Given the description of an element on the screen output the (x, y) to click on. 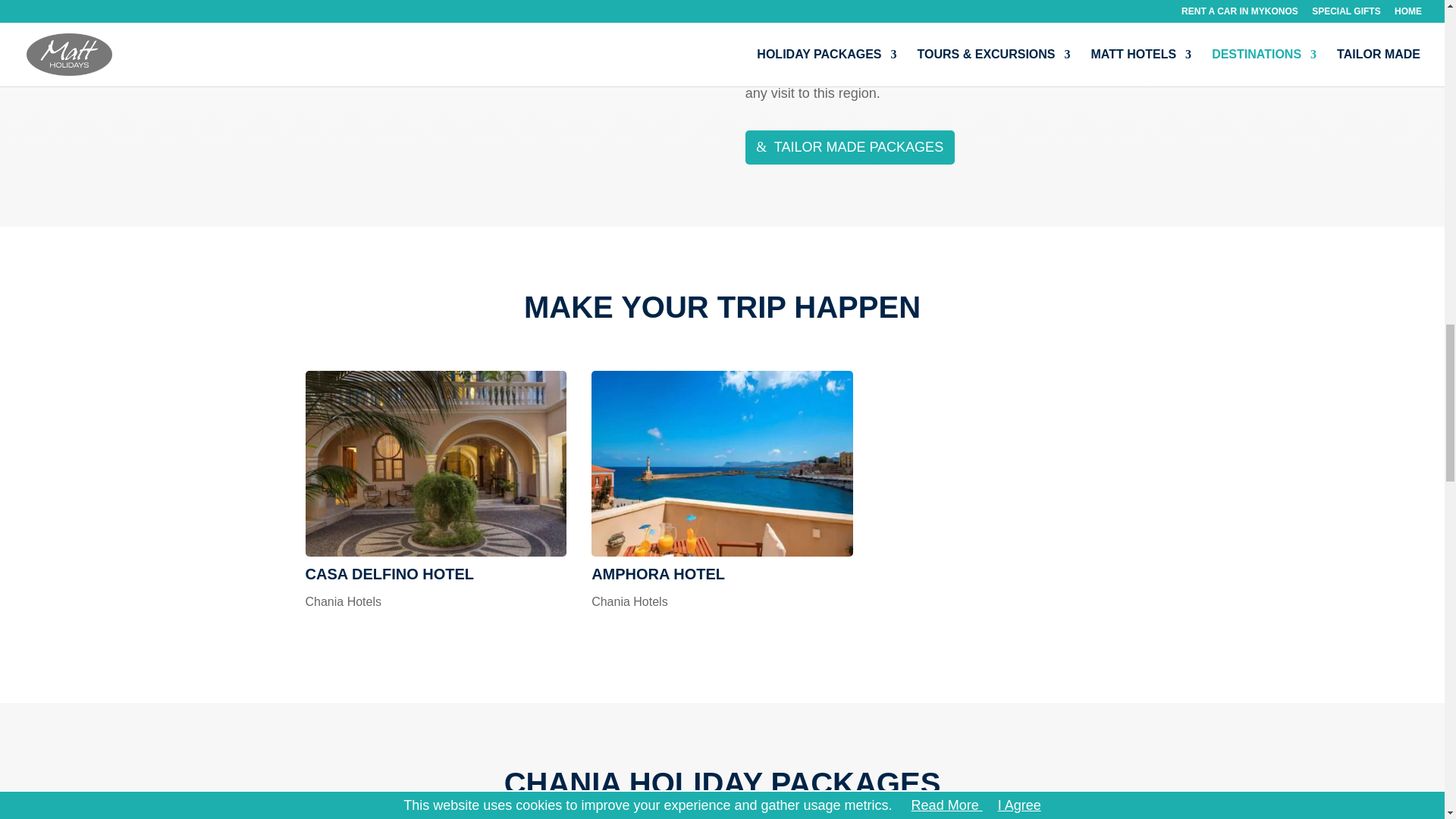
Chania Hotels (629, 601)
Casa Delfino Hotel (389, 573)
Amphora Hotel (658, 573)
Amphora Hotel (722, 463)
Casa Delfino Hotel (435, 463)
Chania Hotels (342, 601)
